Given the description of an element on the screen output the (x, y) to click on. 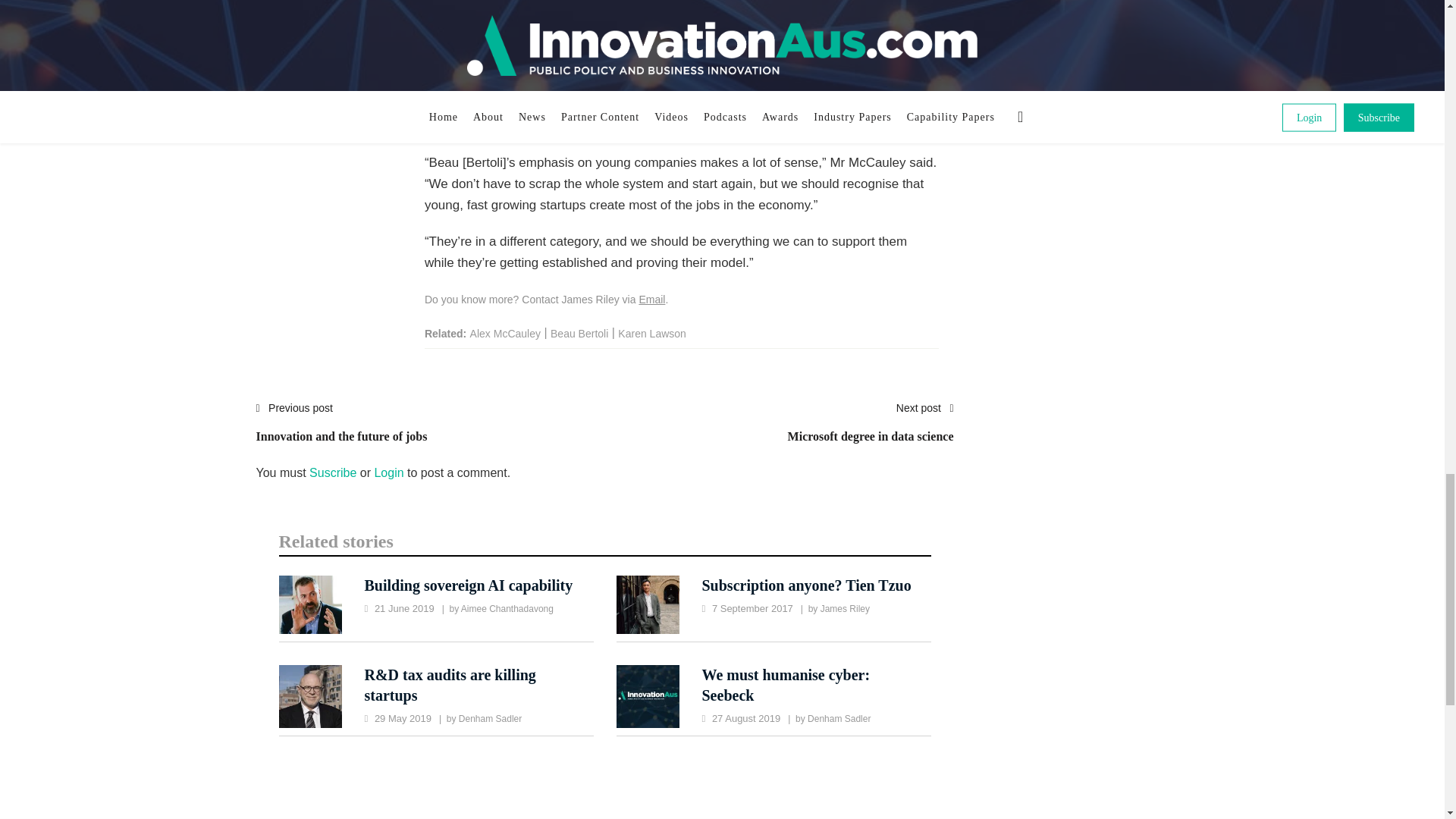
next post (870, 430)
prev post (342, 430)
